Given the description of an element on the screen output the (x, y) to click on. 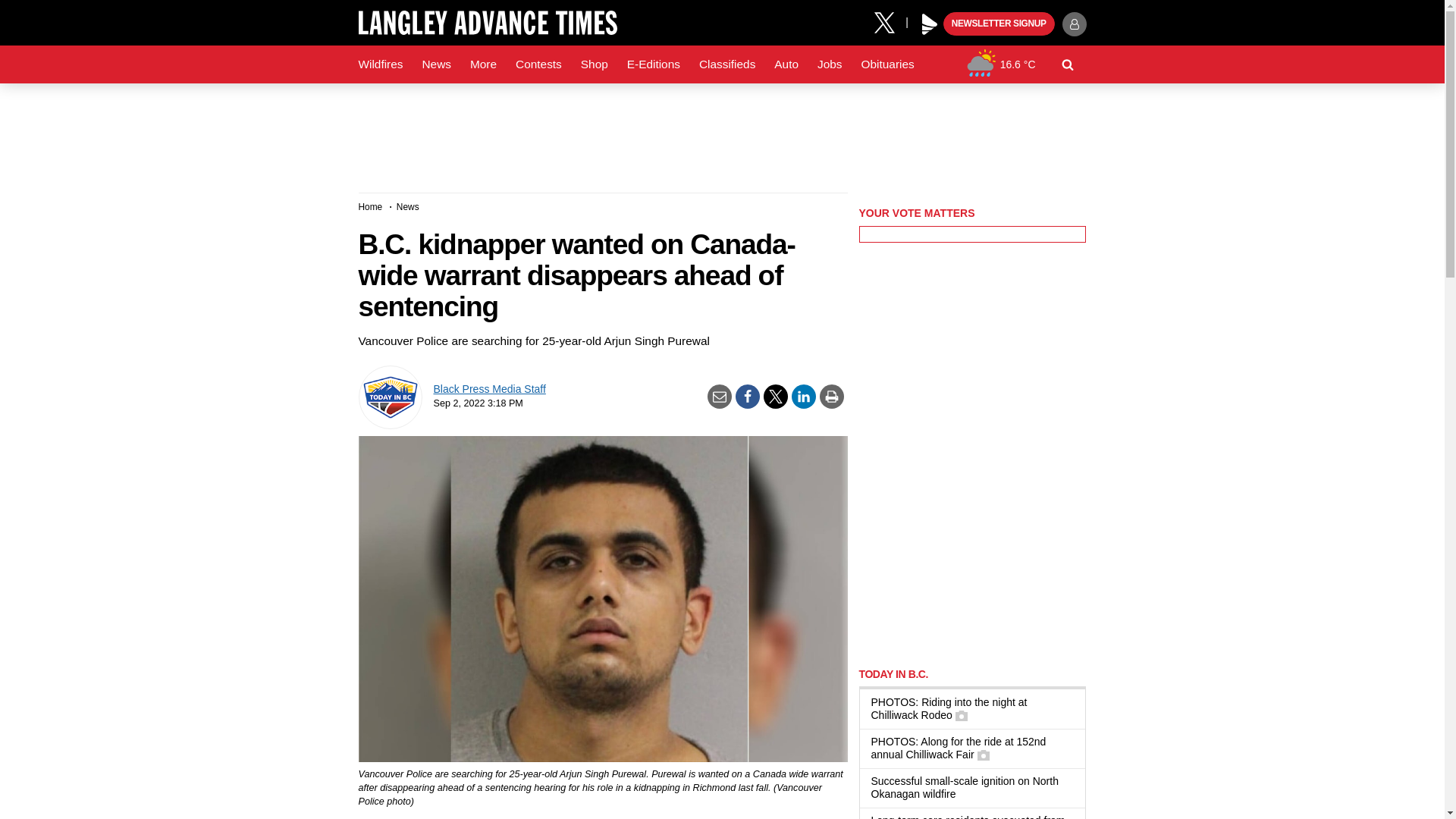
News (435, 64)
Play (929, 24)
NEWSLETTER SIGNUP (998, 24)
X (889, 21)
Has a gallery (983, 755)
Black Press Media (929, 24)
Has a gallery (961, 715)
Wildfires (380, 64)
